Given the description of an element on the screen output the (x, y) to click on. 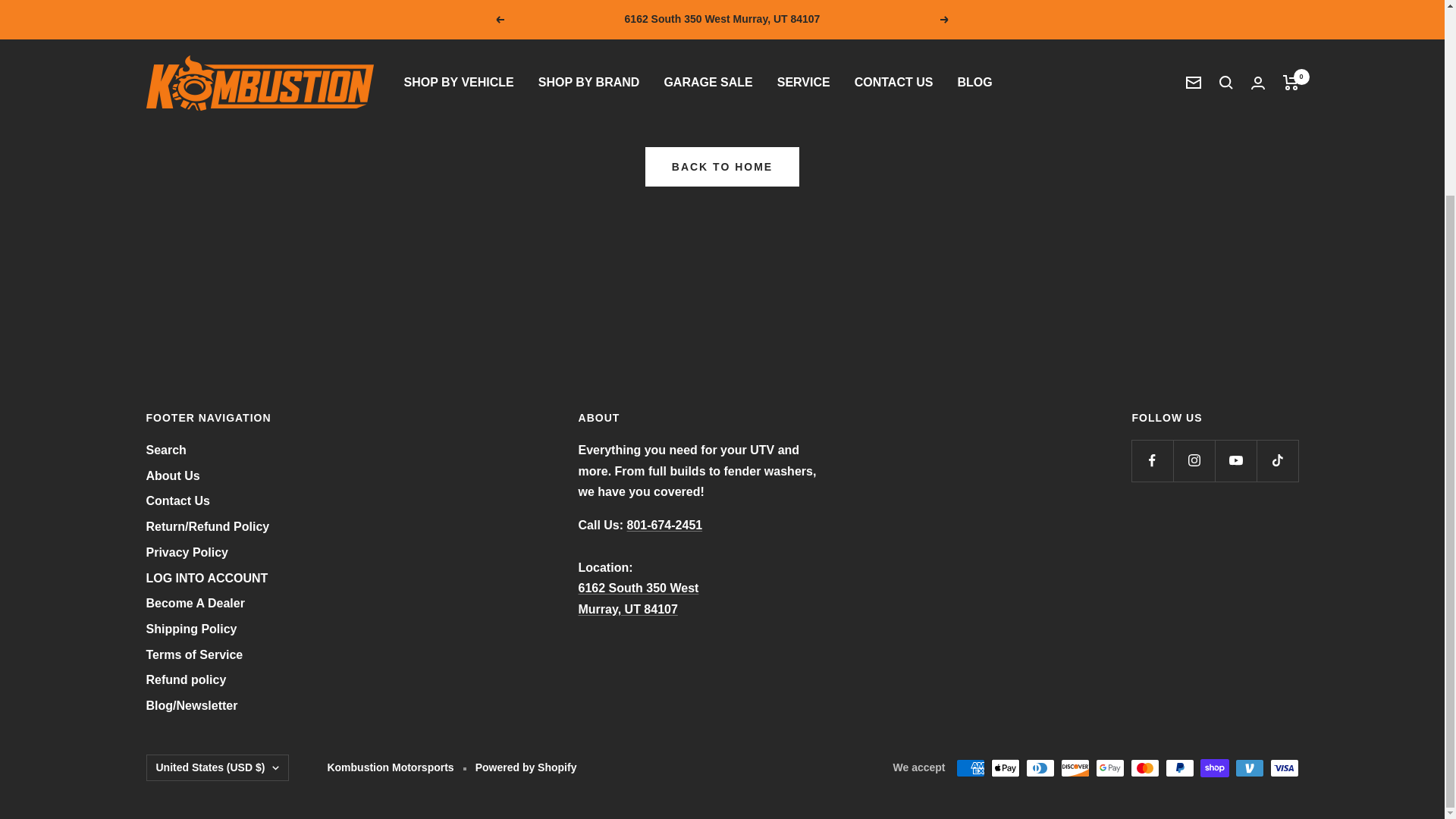
Terms of Service (194, 654)
Shipping Policy (190, 629)
Refund policy (185, 680)
Search (165, 450)
tel:8016742451 (665, 524)
AF (148, 454)
Privacy Policy (186, 552)
Contact Us (177, 500)
Become A Dealer (194, 603)
801-674-2451 (665, 524)
LOG INTO ACCOUNT (206, 577)
About Us (172, 476)
BACK TO HOME (638, 598)
Kombustion Motorsports Address (722, 166)
